Given the description of an element on the screen output the (x, y) to click on. 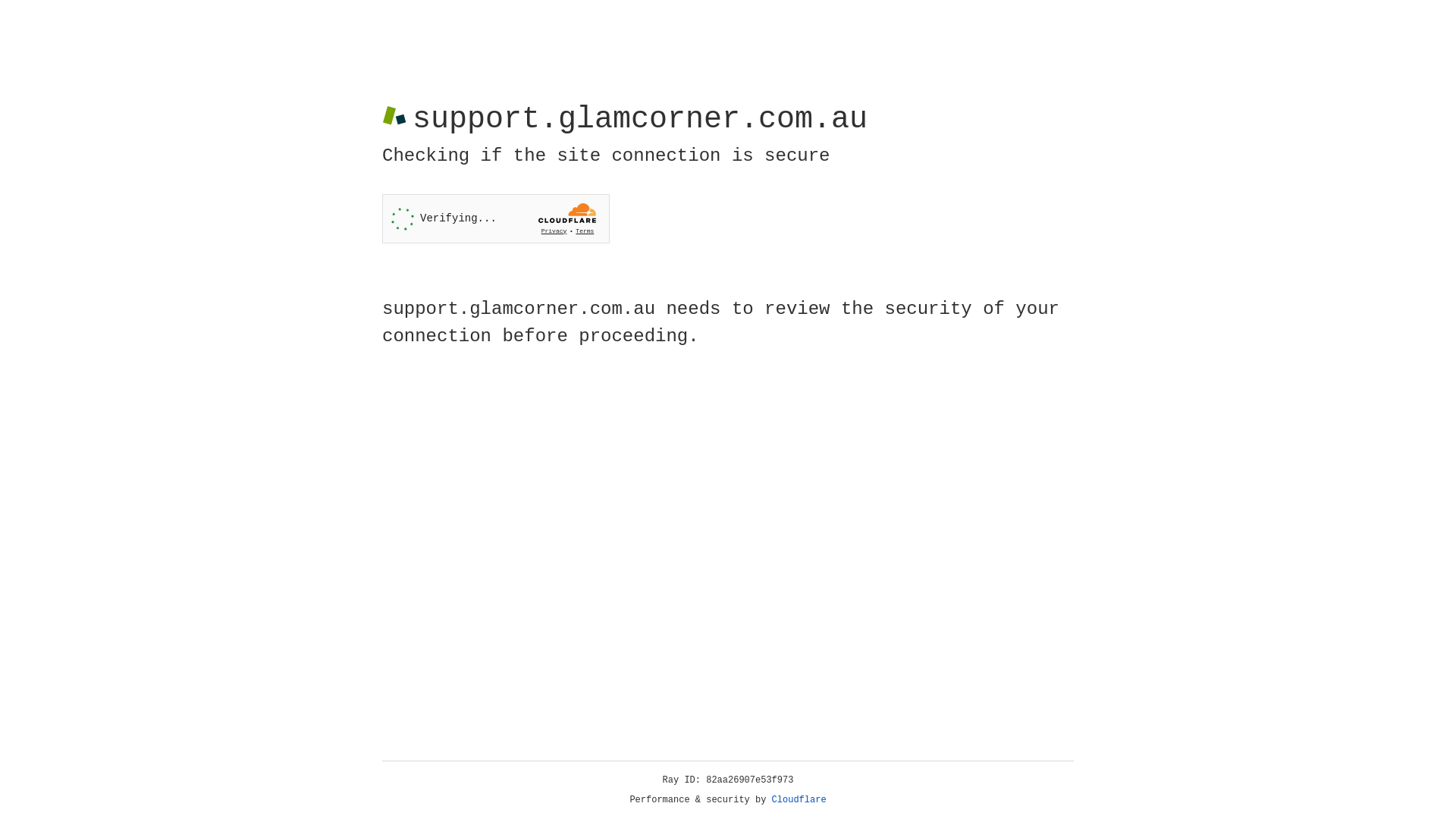
Widget containing a Cloudflare security challenge Element type: hover (495, 218)
Cloudflare Element type: text (798, 799)
